Given the description of an element on the screen output the (x, y) to click on. 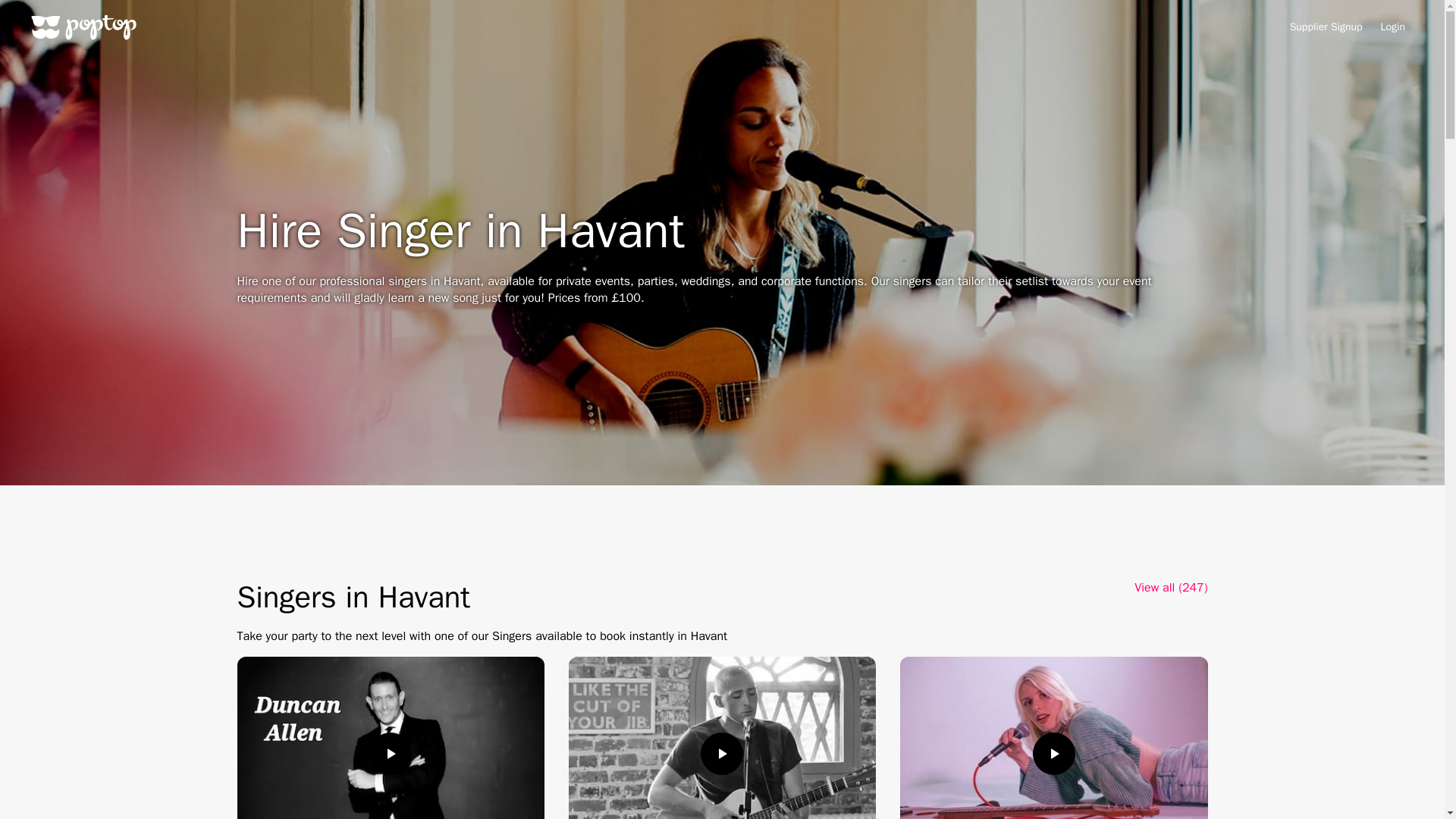
Supplier Signup (1326, 26)
Login (1392, 26)
